Given the description of an element on the screen output the (x, y) to click on. 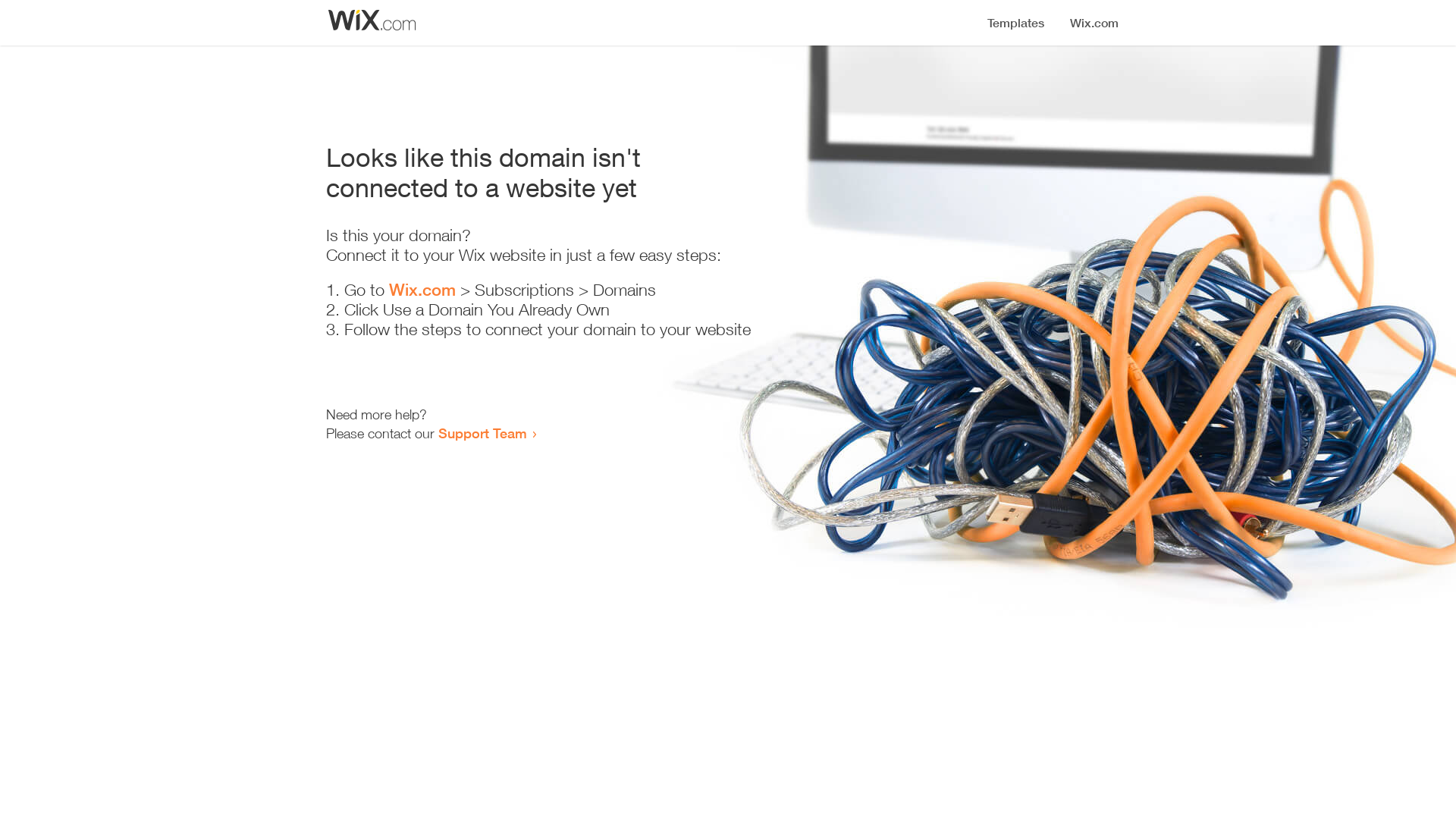
Support Team Element type: text (482, 432)
Wix.com Element type: text (422, 289)
